Given the description of an element on the screen output the (x, y) to click on. 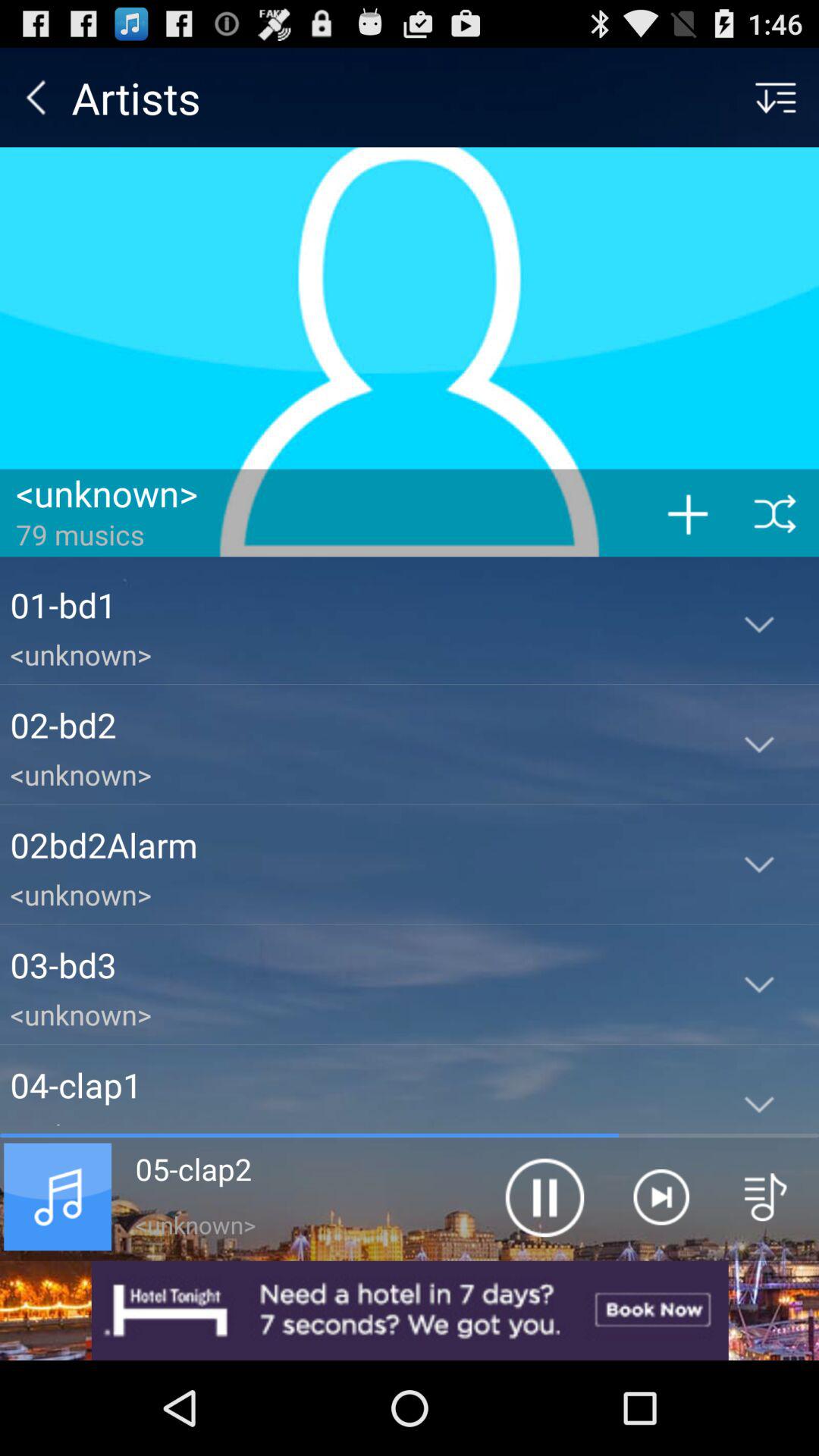
launch the icon above <unknown> item (354, 844)
